Given the description of an element on the screen output the (x, y) to click on. 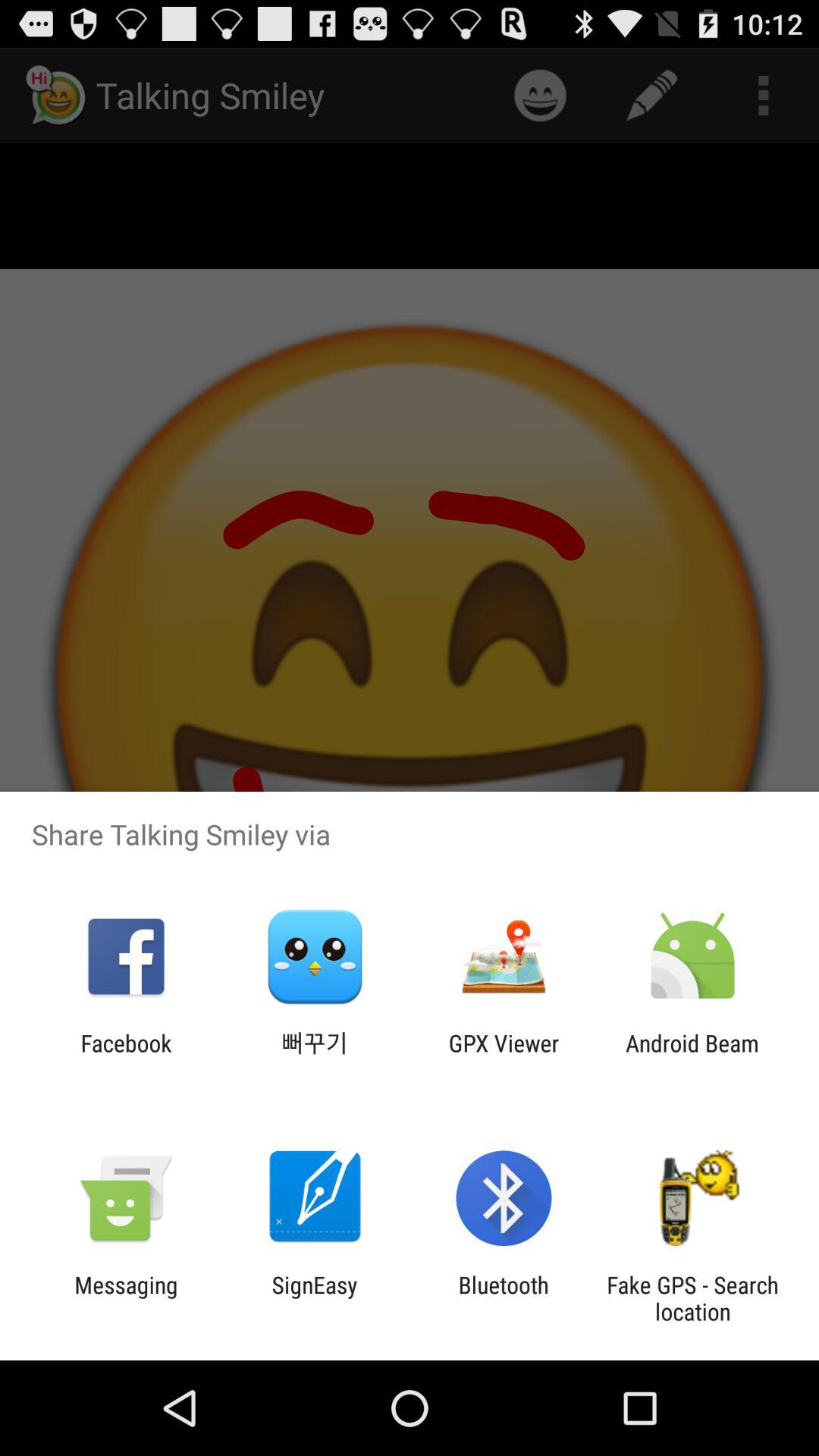
tap messaging (126, 1298)
